Given the description of an element on the screen output the (x, y) to click on. 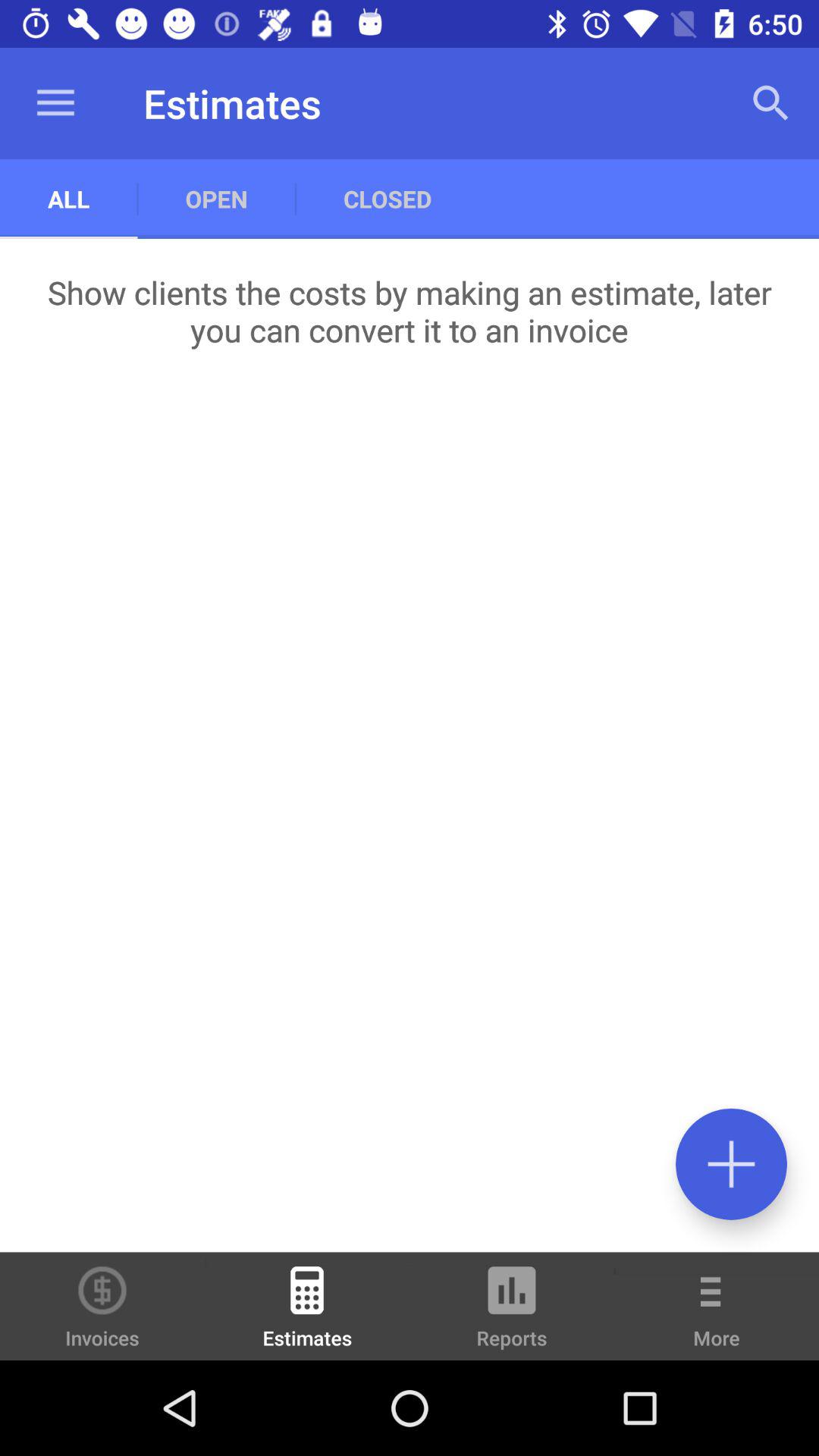
press the icon at the top right corner (771, 103)
